Given the description of an element on the screen output the (x, y) to click on. 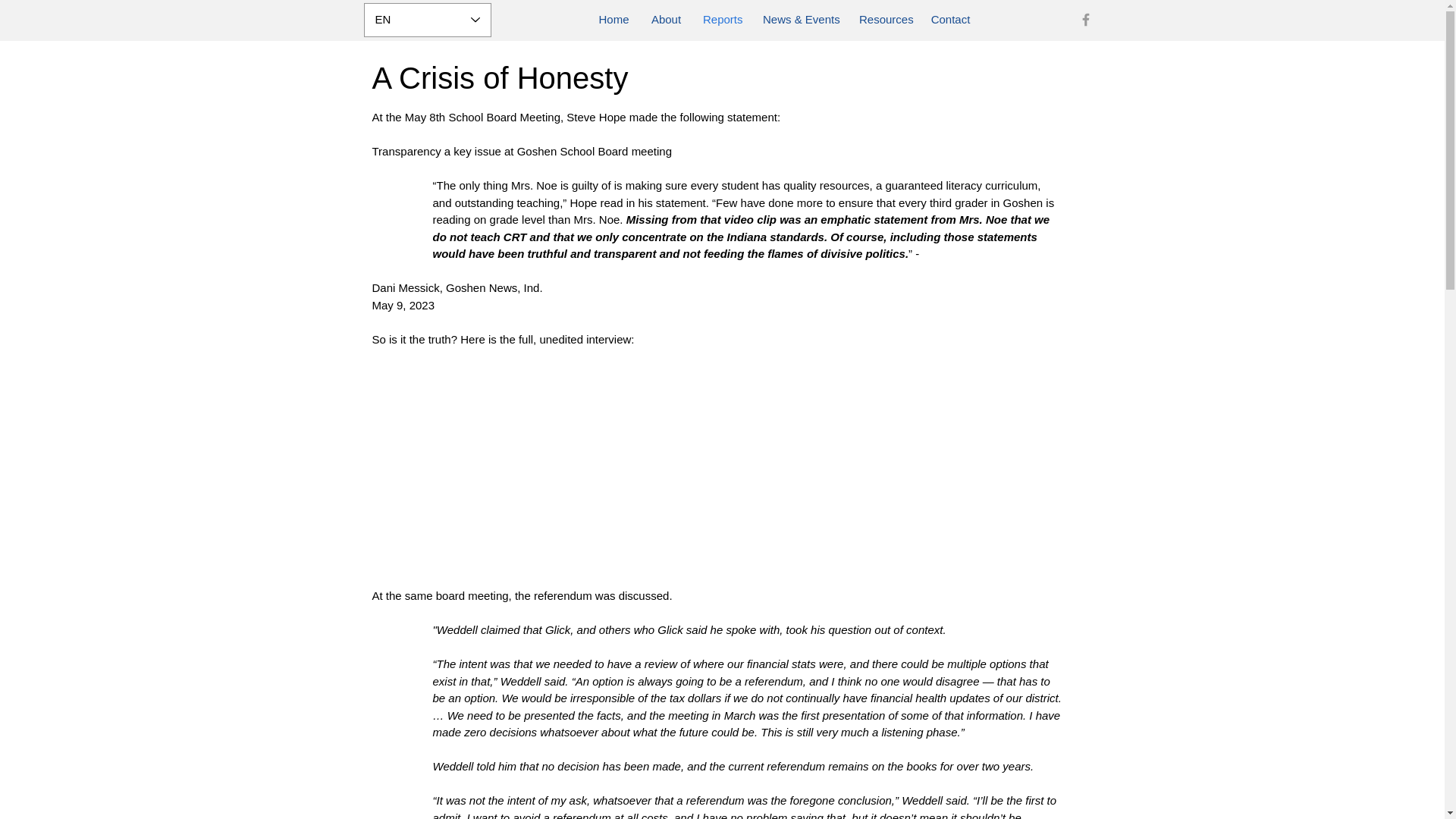
Contact (950, 18)
Reports (722, 18)
Home (614, 18)
Resources (884, 18)
About (666, 18)
